Given the description of an element on the screen output the (x, y) to click on. 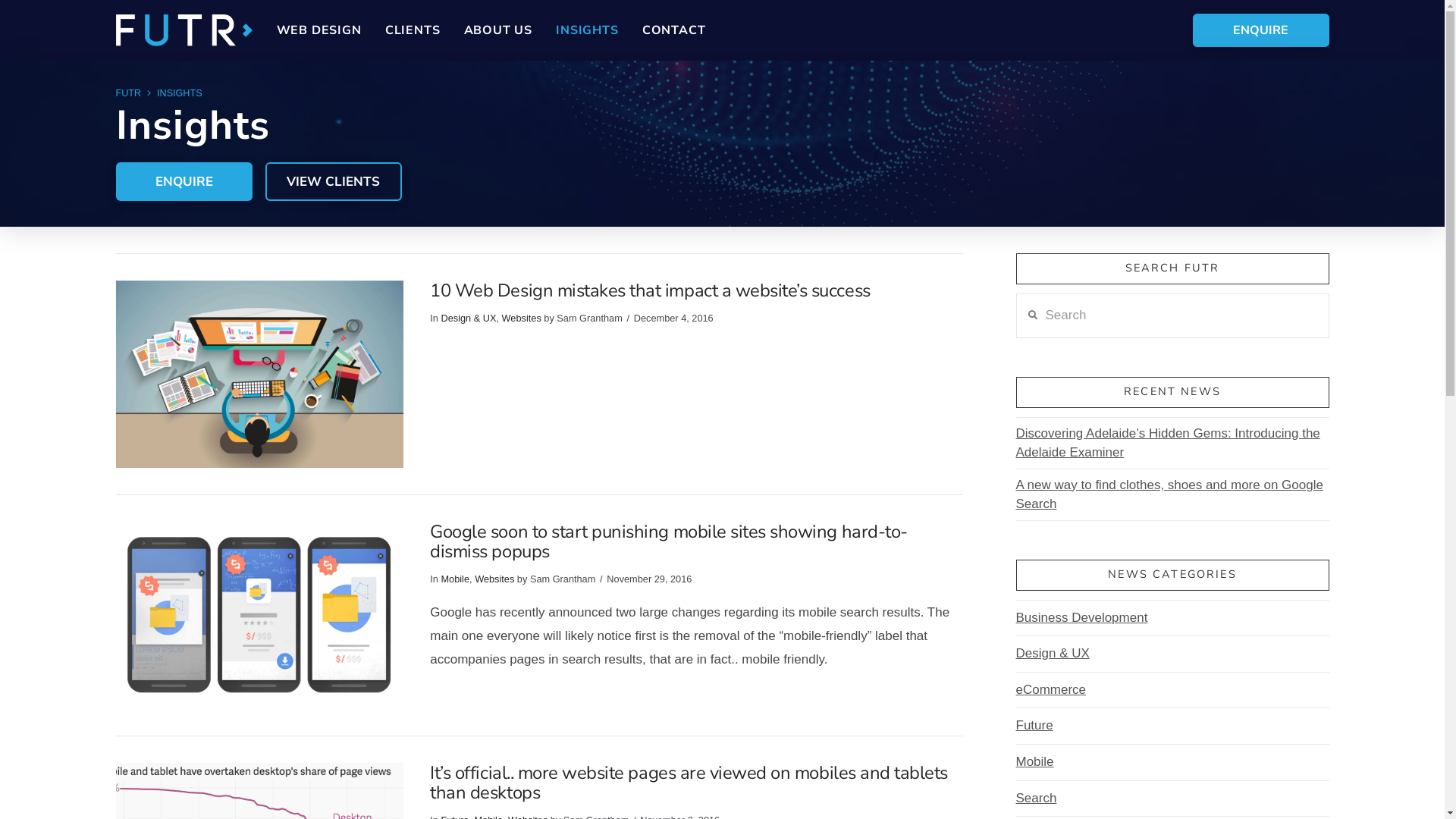
CLIENTS Element type: text (412, 30)
Future Element type: text (1034, 725)
WEB DESIGN Element type: text (318, 30)
VIEW CLIENTS Element type: text (333, 181)
Design & UX Element type: text (1052, 653)
Mobile Element type: text (1035, 762)
Websites Element type: text (494, 578)
A new way to find clothes, shoes and more on Google Search Element type: text (1169, 494)
Design & UX Element type: text (467, 317)
ABOUT US Element type: text (498, 30)
ENQUIRE Element type: text (1260, 30)
CONTACT Element type: text (673, 30)
eCommerce Element type: text (1051, 690)
ENQUIRE Element type: text (183, 181)
INSIGHTS Element type: text (178, 93)
INSIGHTS Element type: text (586, 30)
Search Element type: text (1036, 798)
FUTR Element type: text (128, 93)
Mobile Element type: text (454, 578)
Business Development Element type: text (1082, 618)
Websites Element type: text (521, 317)
